Given the description of an element on the screen output the (x, y) to click on. 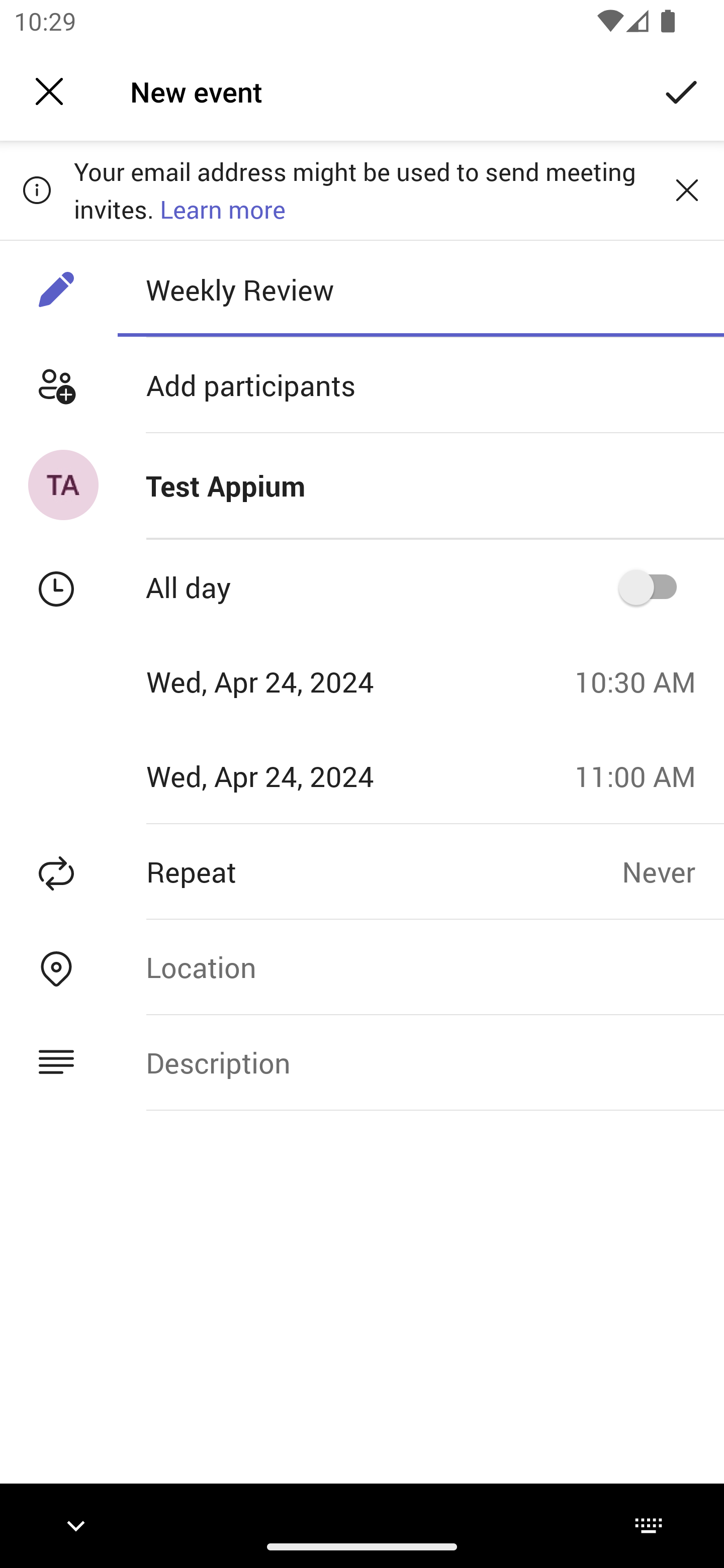
Back (49, 91)
Send invite (681, 90)
Dismiss banner (687, 189)
Weekly Review (420, 289)
Add participants Add participants option (362, 384)
All day (654, 586)
Wed, Apr 24, 2024 Starts Wednesday Apr 24, 2024 (280, 681)
10:30 AM Start time 10:30 AM (642, 681)
Wed, Apr 24, 2024 Ends Wednesday Apr 24, 2024 (280, 776)
11:00 AM End time 11:00 AM (642, 776)
Repeat (310, 871)
Never Repeat Never (672, 871)
Location (420, 967)
Description (420, 1062)
